Given the description of an element on the screen output the (x, y) to click on. 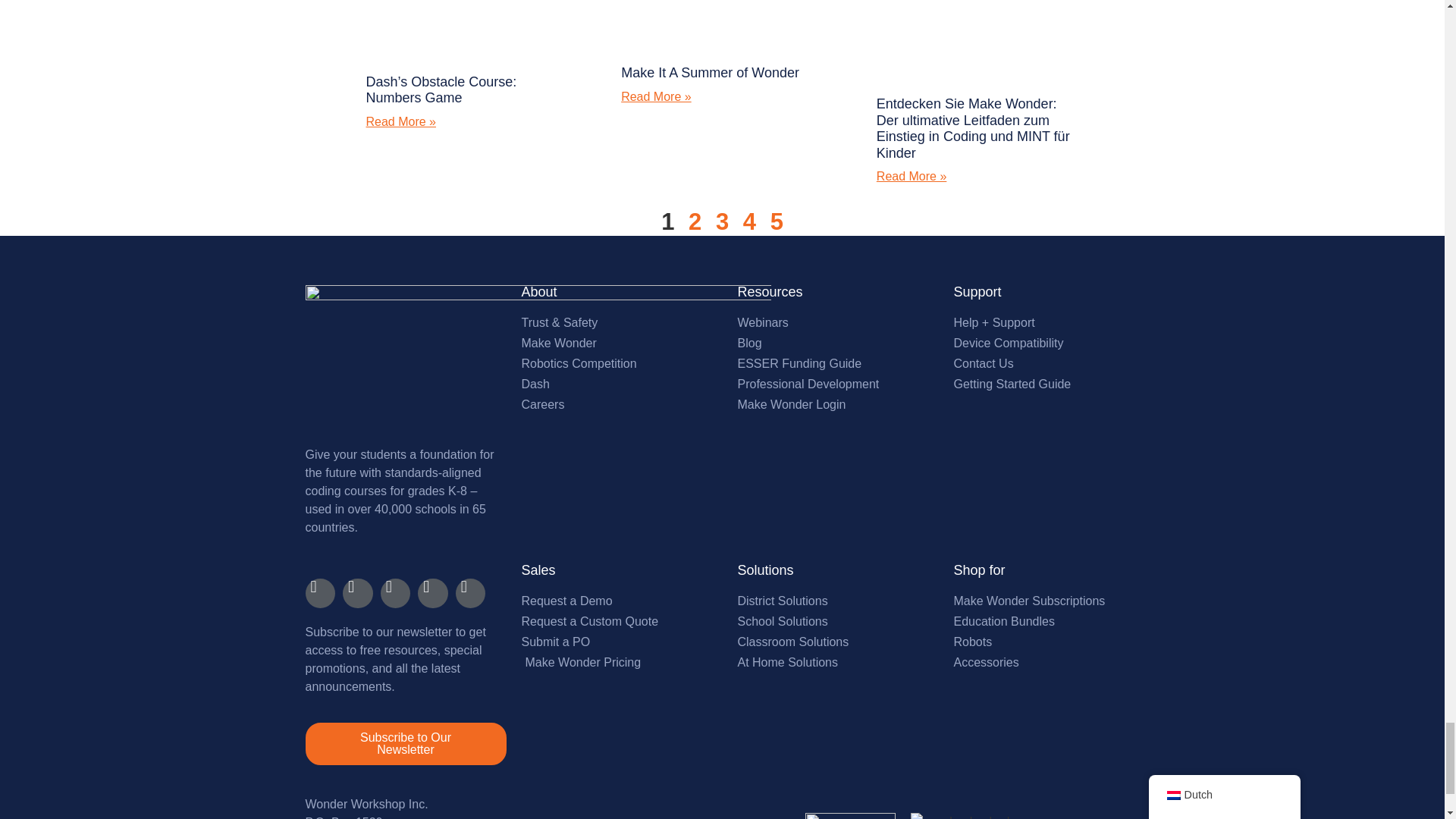
google-play-badge (967, 816)
